Given the description of an element on the screen output the (x, y) to click on. 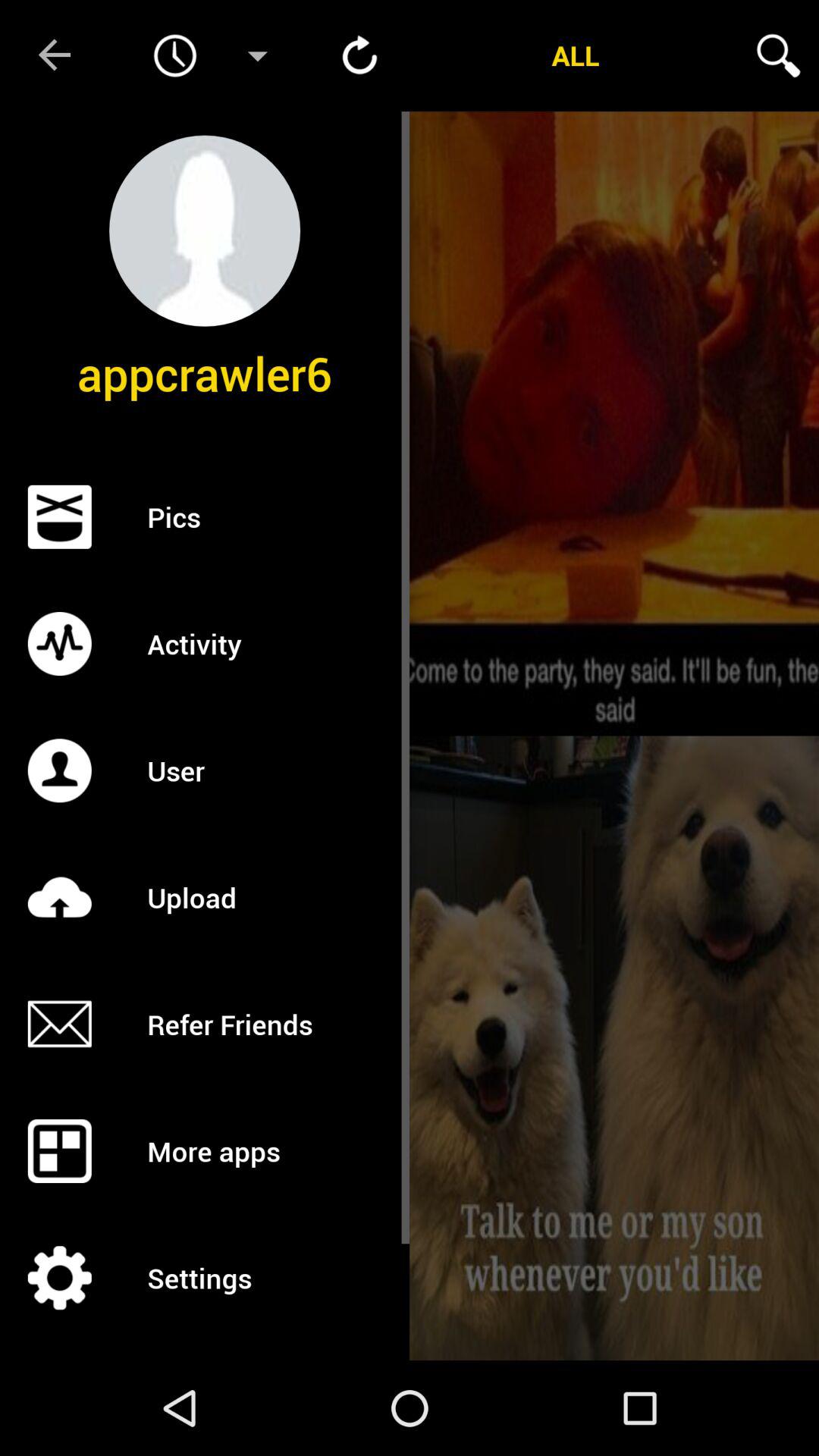
preview funny image (614, 423)
